Given the description of an element on the screen output the (x, y) to click on. 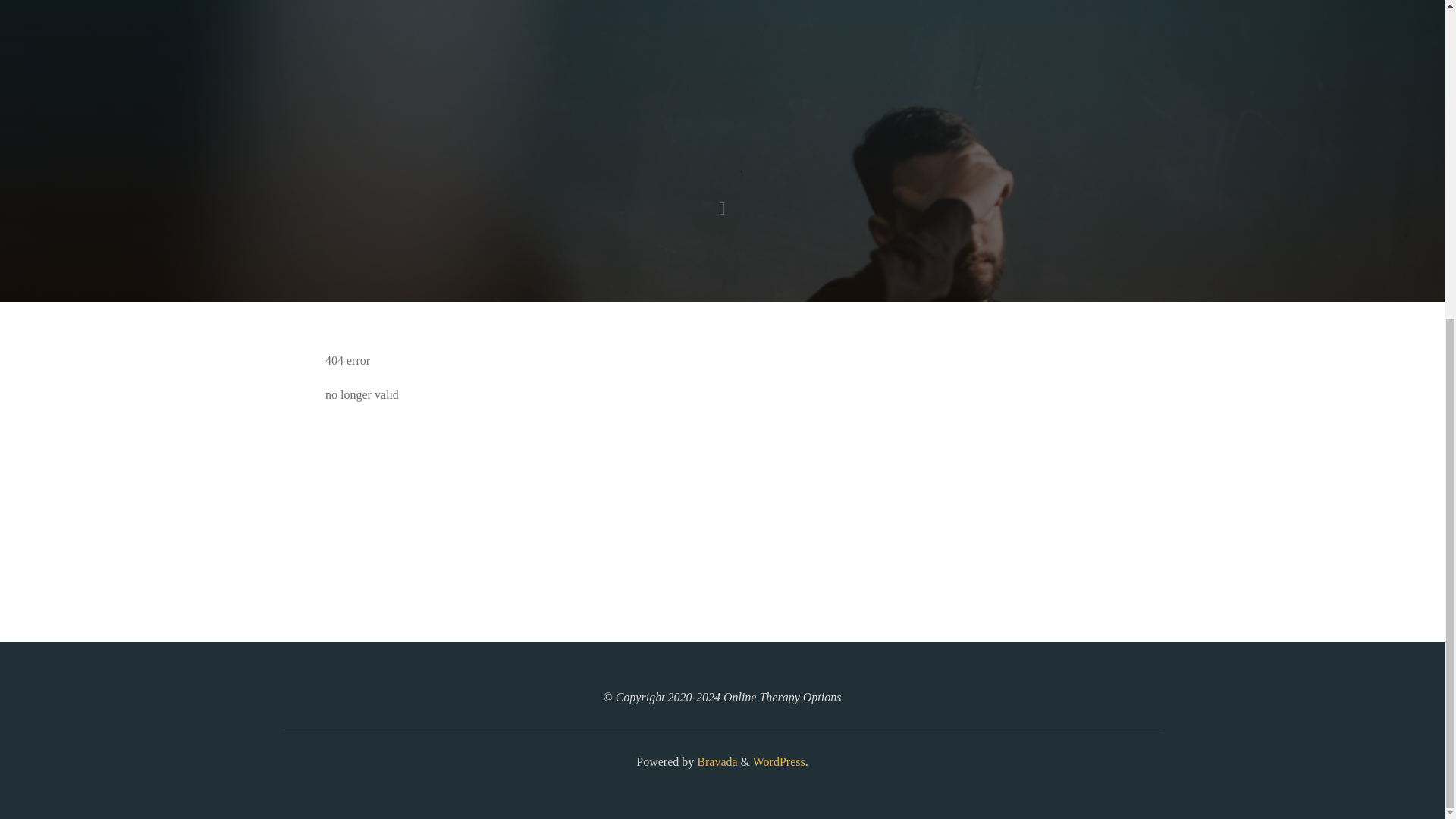
Semantic Personal Publishing Platform (778, 761)
Bravada WordPress Theme by Cryout Creations (715, 761)
Bravada (715, 761)
Read more (721, 207)
WordPress (778, 761)
